Given the description of an element on the screen output the (x, y) to click on. 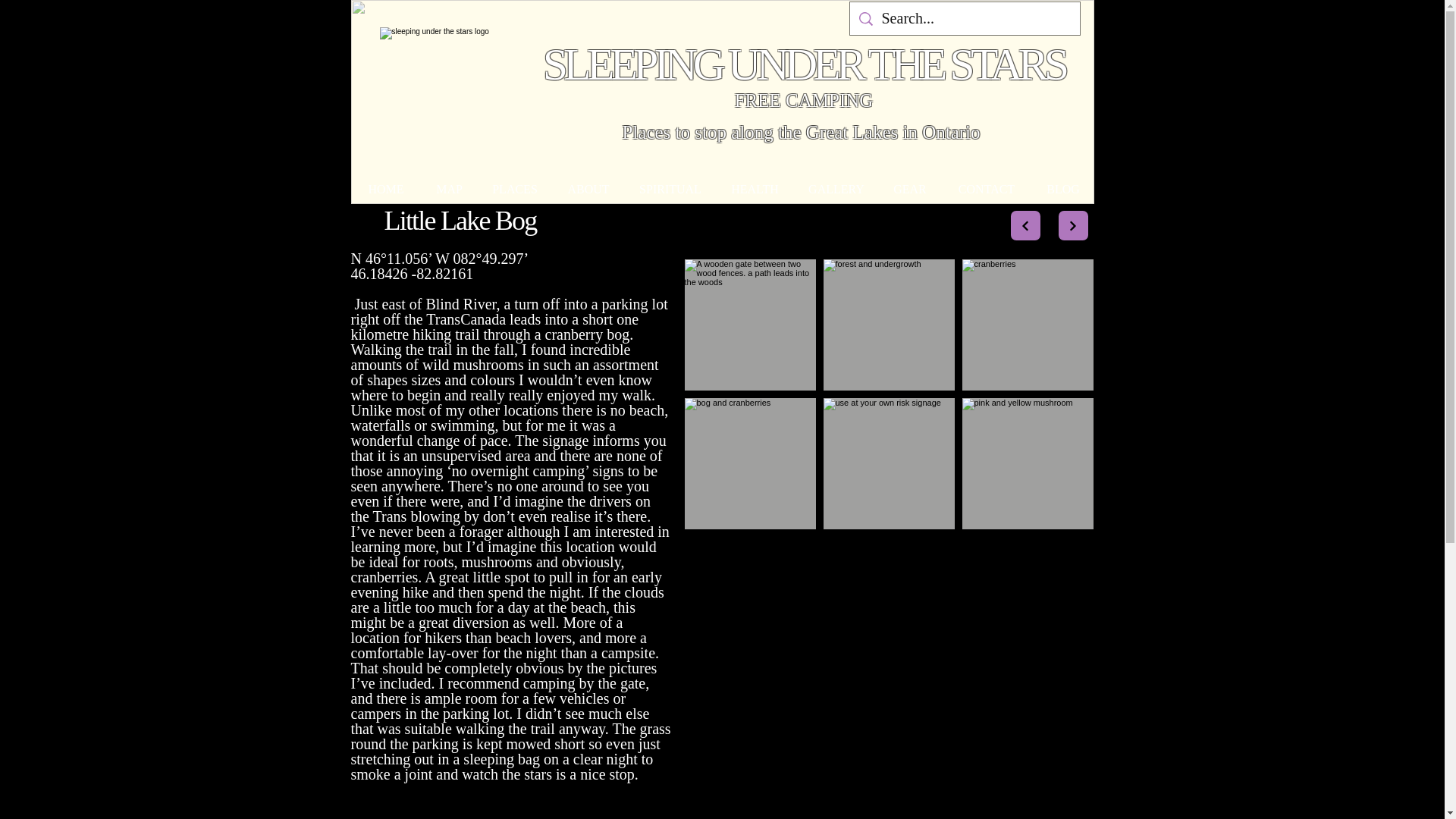
ABOUT (588, 188)
BLOG (1062, 188)
GEAR (908, 188)
CONTACT (987, 188)
MAP (448, 188)
HEALTH (755, 188)
PLACES (514, 188)
SPIRITUAL (669, 188)
GALLERY (836, 188)
HOME (386, 188)
